Given the description of an element on the screen output the (x, y) to click on. 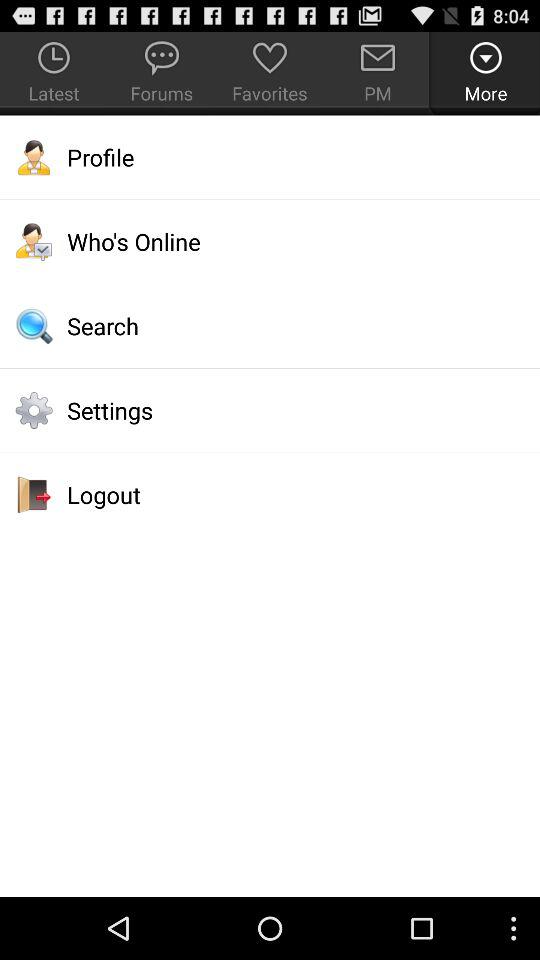
select icon below the latest icon (270, 157)
